Given the description of an element on the screen output the (x, y) to click on. 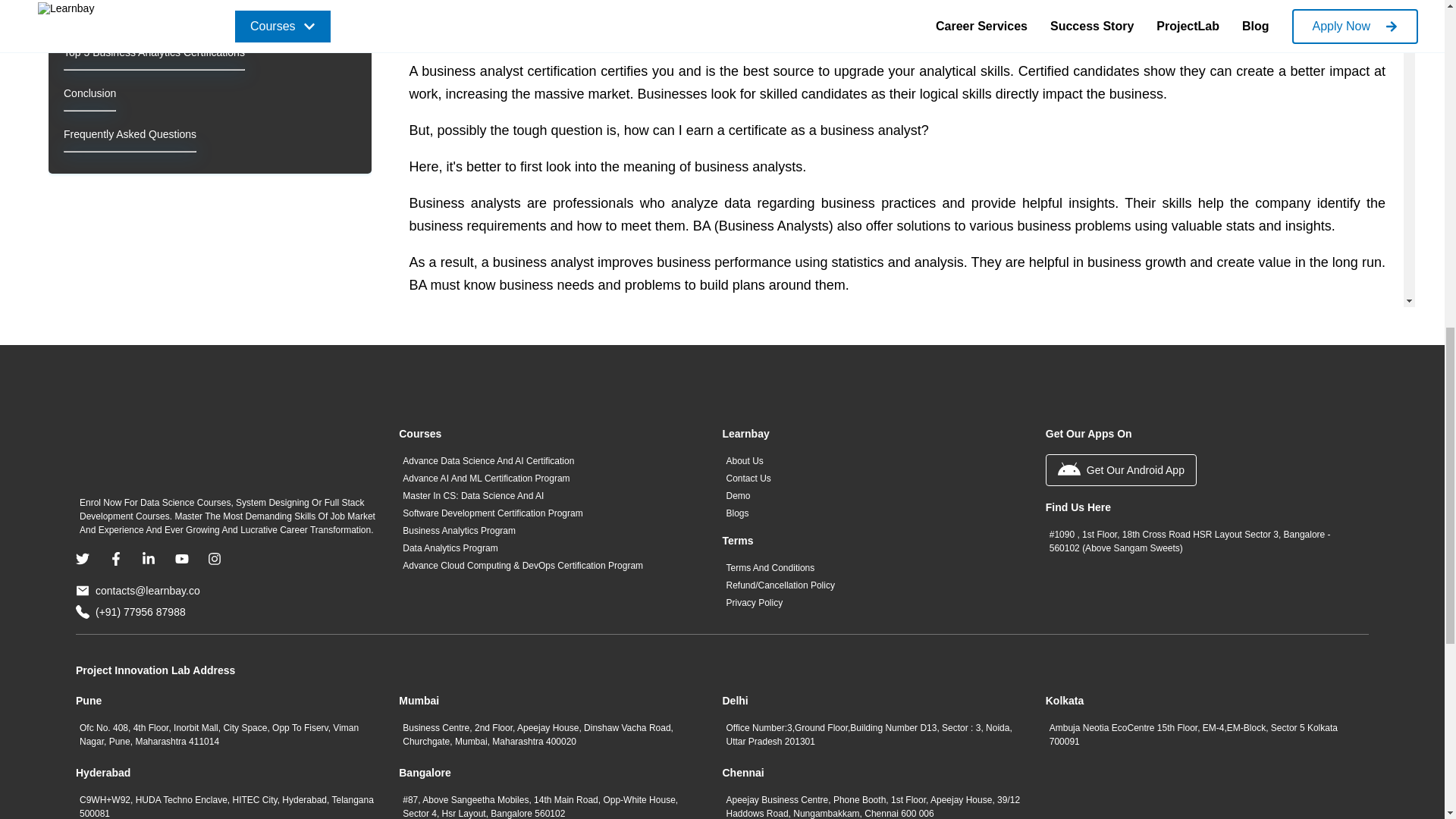
Top 5 Business Analytics Certifications (154, 51)
Frequently Asked Questions (130, 133)
Conclusion (90, 92)
Need for a Business Analyst Certification (160, 10)
